Given the description of an element on the screen output the (x, y) to click on. 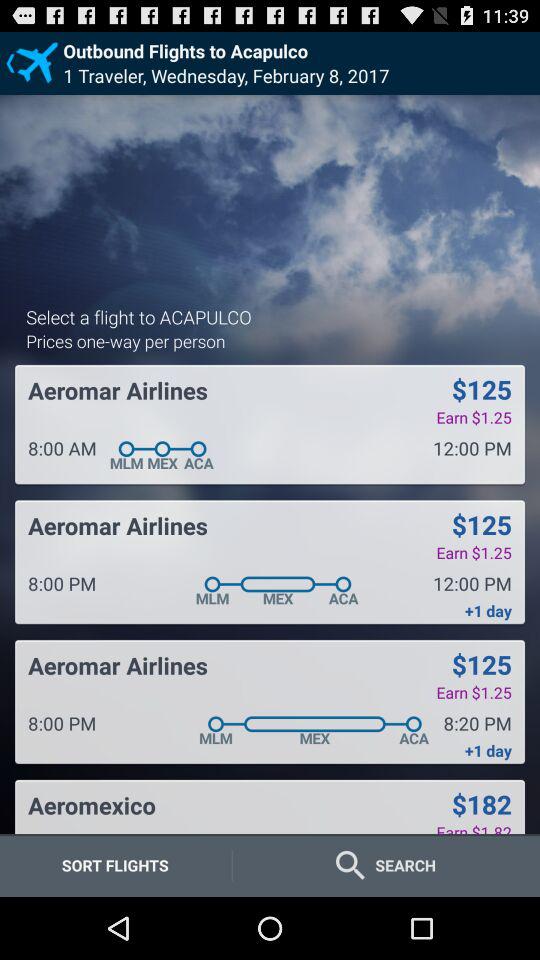
open the item next to earn $1.82 icon (92, 805)
